Given the description of an element on the screen output the (x, y) to click on. 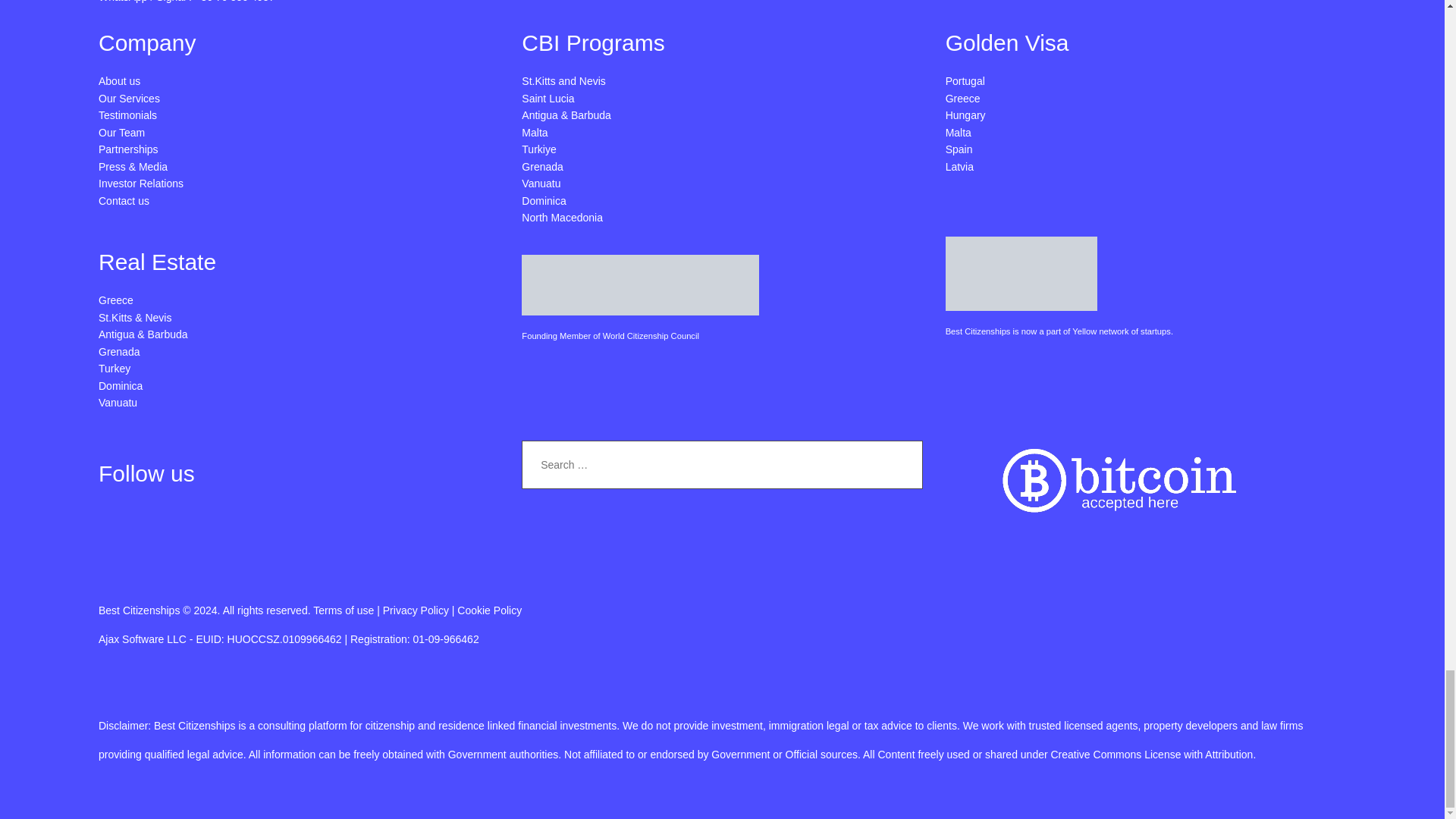
Search (906, 464)
Search (906, 464)
